Given the description of an element on the screen output the (x, y) to click on. 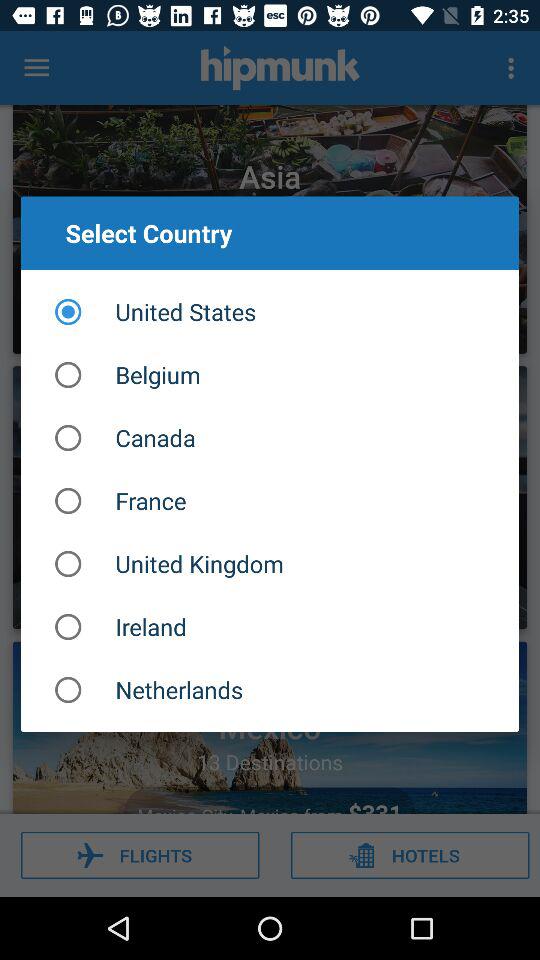
click the icon below canada icon (270, 500)
